Given the description of an element on the screen output the (x, y) to click on. 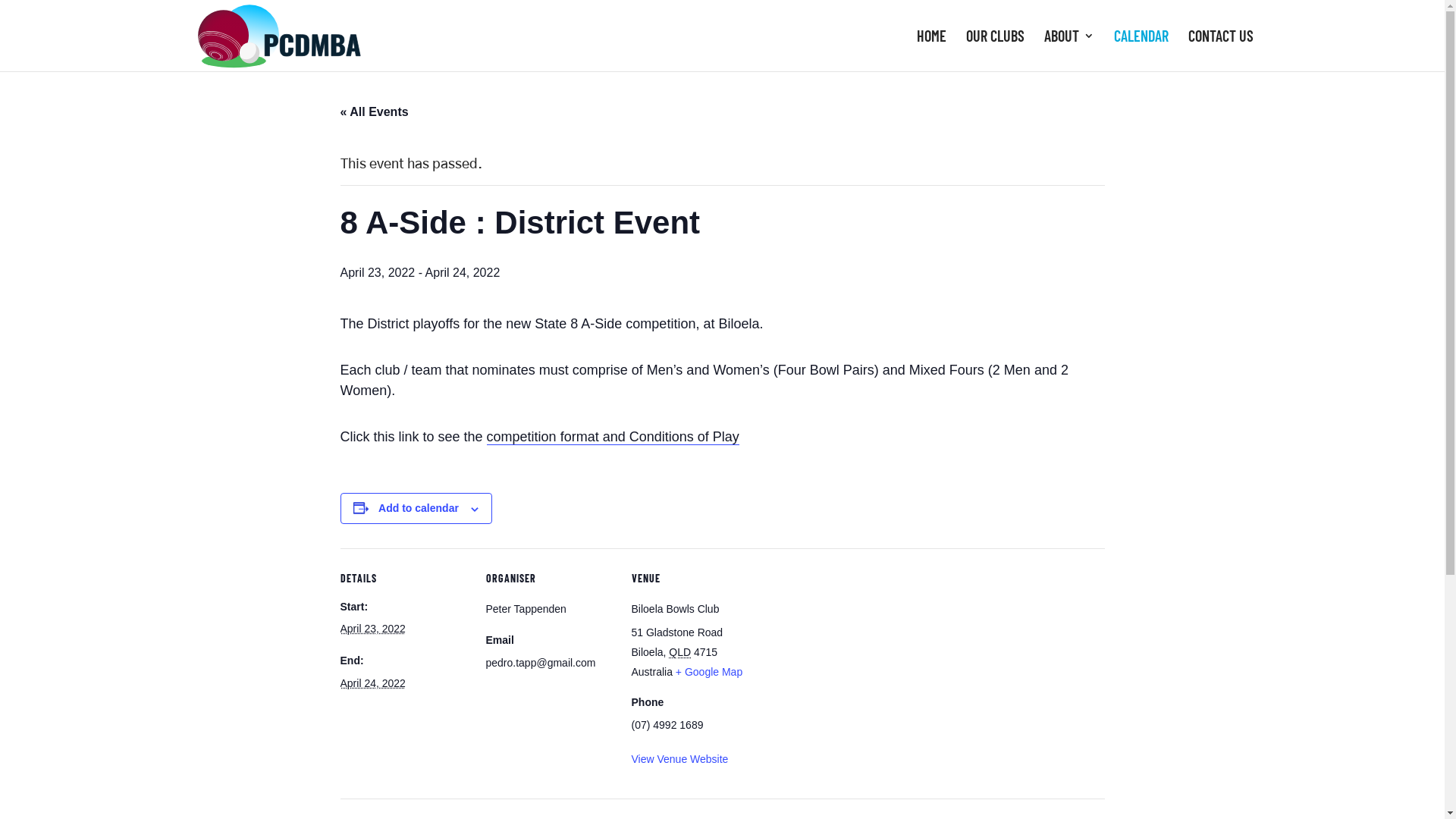
competition format and Conditions of Play Element type: text (612, 437)
CONTACT US Element type: text (1219, 50)
CALENDAR Element type: text (1140, 50)
ABOUT Element type: text (1068, 50)
OUR CLUBS Element type: text (995, 50)
HOME Element type: text (930, 50)
+ Google Map Element type: text (708, 671)
Add to calendar Element type: text (418, 508)
View Venue Website Element type: text (679, 759)
